Given the description of an element on the screen output the (x, y) to click on. 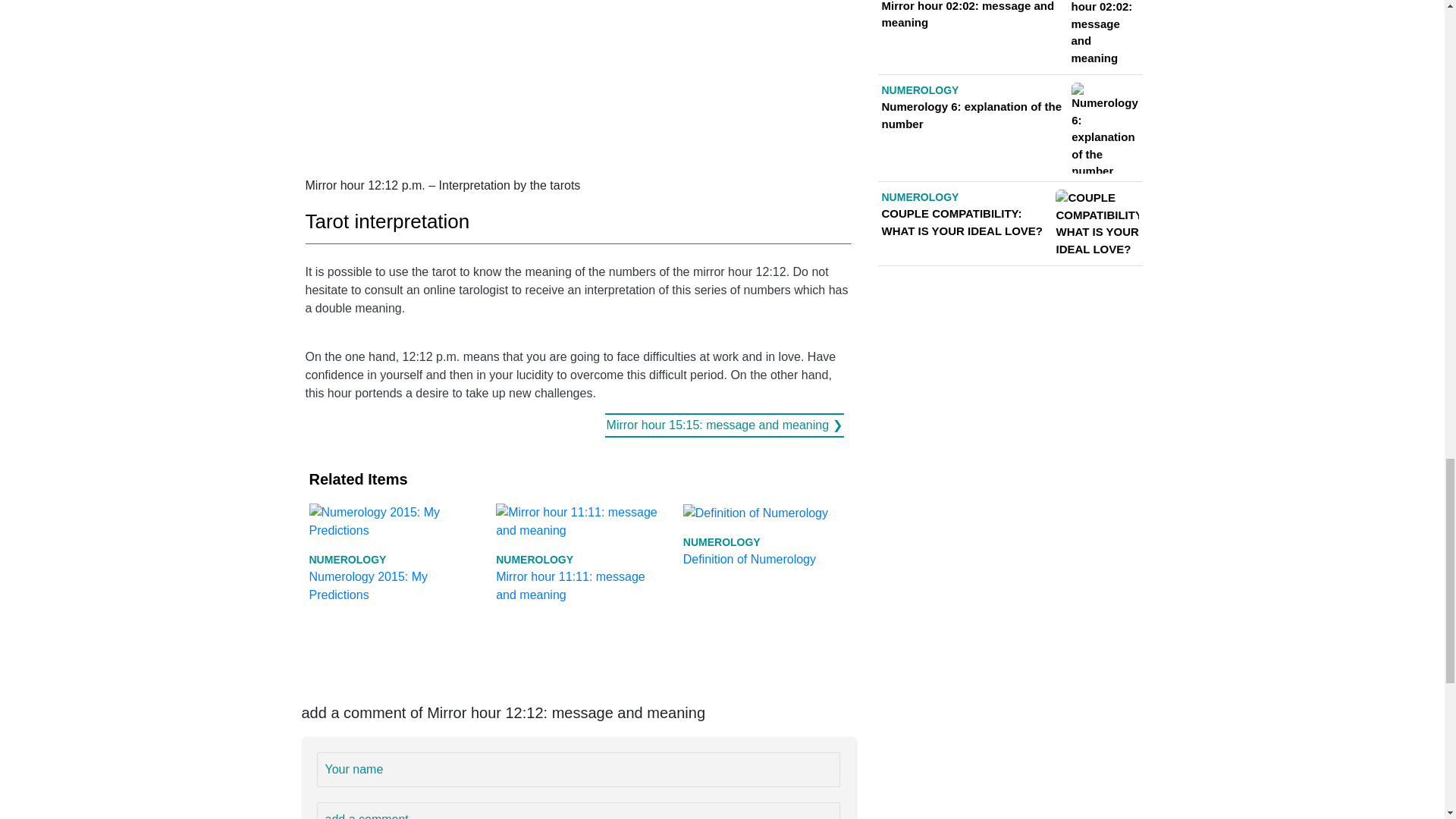
Numerology 2015: My Predictions (391, 552)
Tarot interpretation (764, 534)
